Given the description of an element on the screen output the (x, y) to click on. 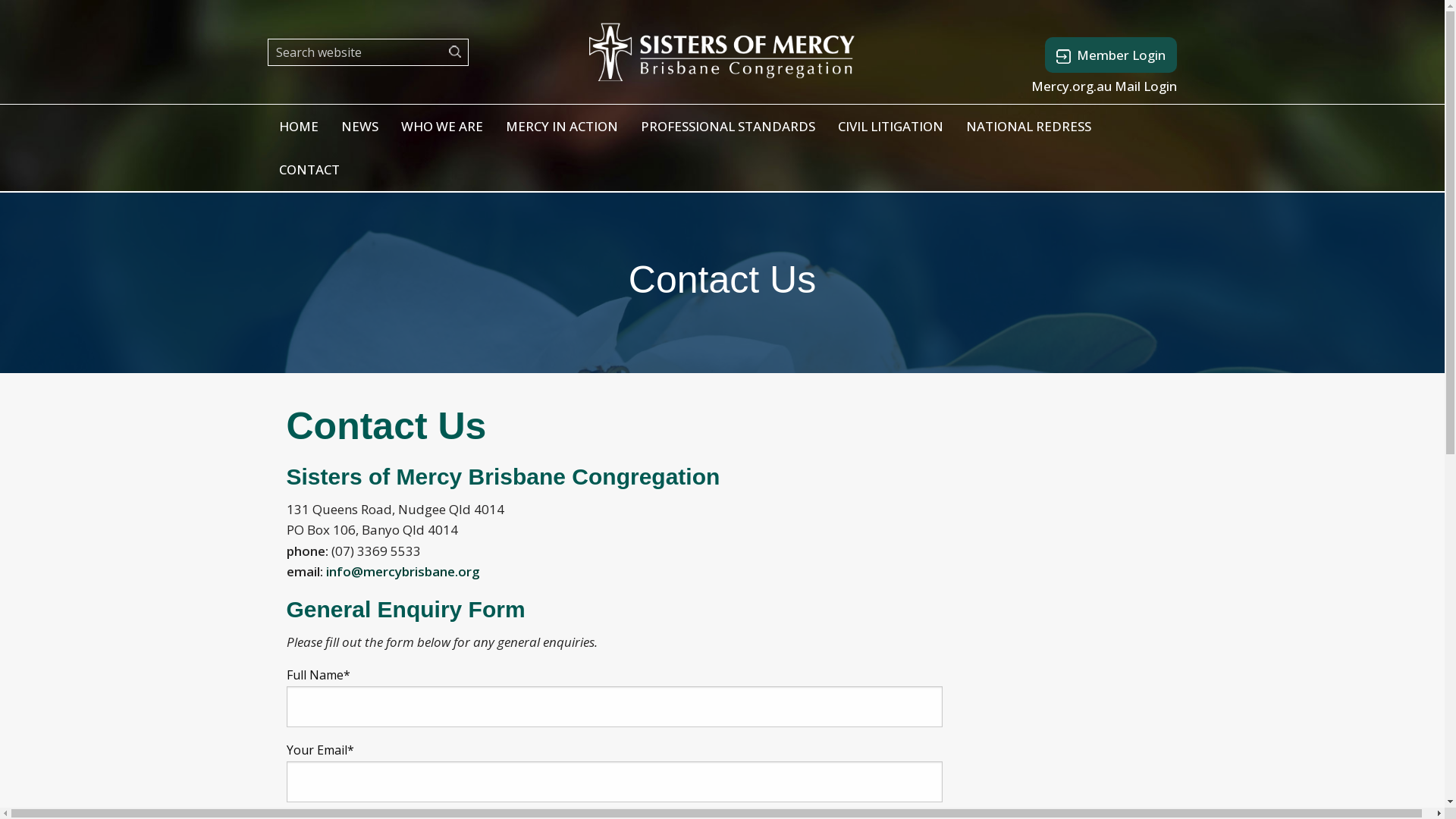
info@ Element type: text (344, 571)
CIVIL LITIGATION Element type: text (890, 125)
mercybrisbane.org Element type: text (420, 571)
NEWS Element type: text (359, 125)
Sisters Of Mercy Element type: hover (721, 50)
PROFESSIONAL STANDARDS Element type: text (727, 125)
Mercy.org.au Mail Login Element type: text (1103, 85)
NATIONAL REDRESS Element type: text (1027, 125)
HOME Element type: text (297, 125)
Member Login Element type: text (1110, 54)
S Element type: text (457, 51)
CONTACT Element type: text (308, 169)
MERCY IN ACTION Element type: text (561, 125)
WHO WE ARE Element type: text (441, 125)
